Given the description of an element on the screen output the (x, y) to click on. 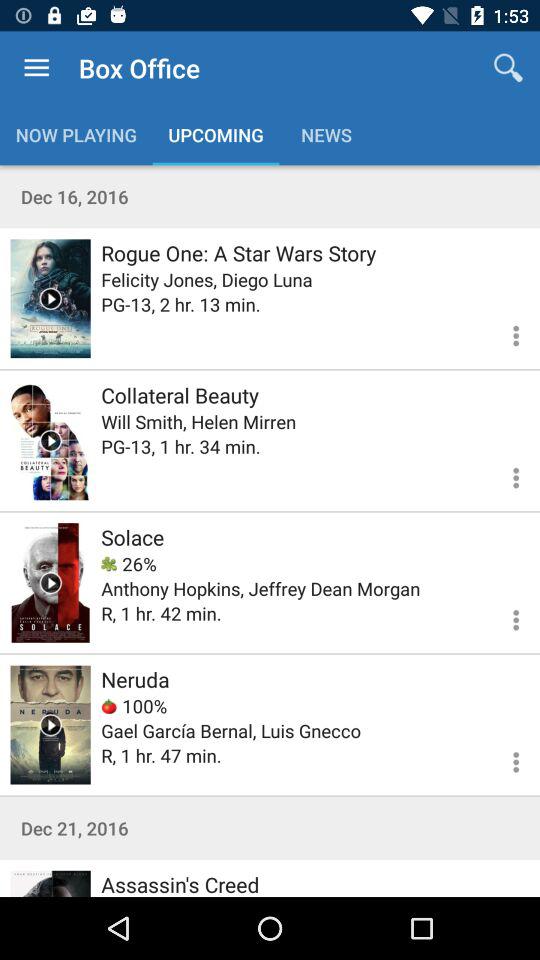
launch icon below the dec 21, 2016 icon (180, 883)
